Given the description of an element on the screen output the (x, y) to click on. 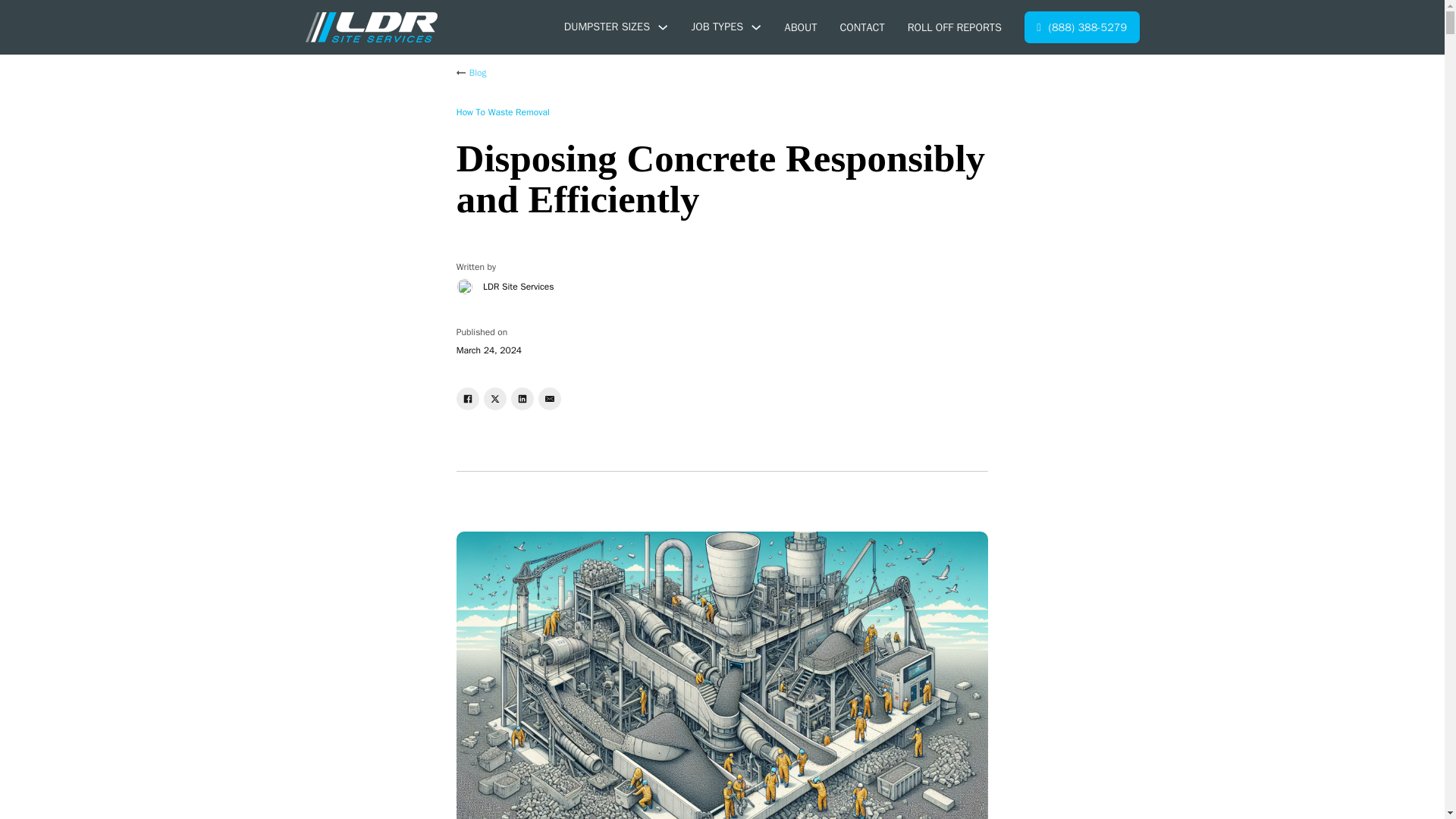
CONTACT (861, 28)
ROLL OFF REPORTS (954, 28)
ABOUT (800, 28)
Blog (471, 72)
How To Waste Removal (503, 111)
